Given the description of an element on the screen output the (x, y) to click on. 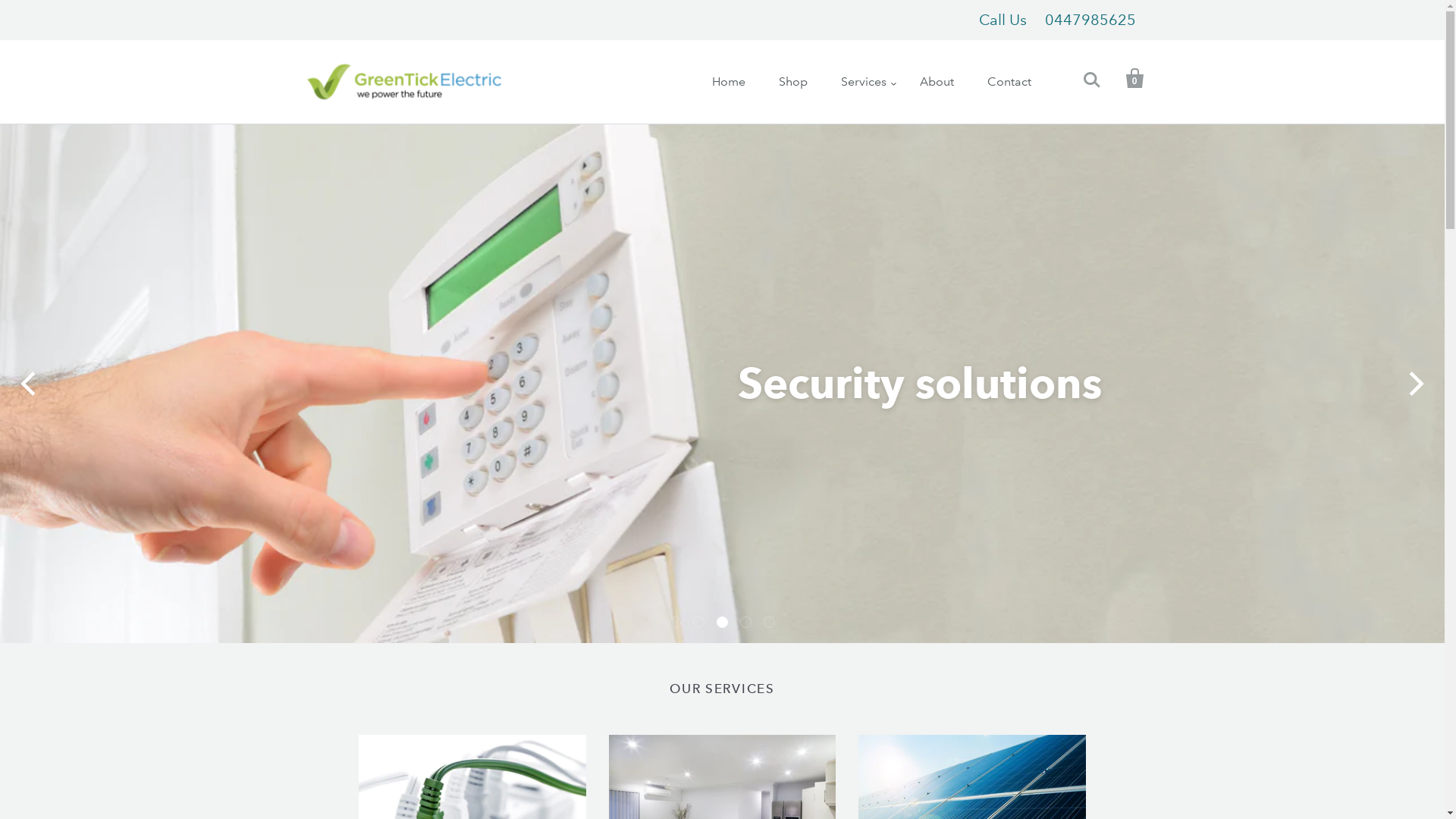
Shop Element type: text (792, 80)
Call Us0447985625 Element type: text (1057, 19)
Home Element type: text (727, 80)
About Element type: text (935, 80)
Contact Element type: text (1009, 80)
Services Element type: text (862, 81)
